Given the description of an element on the screen output the (x, y) to click on. 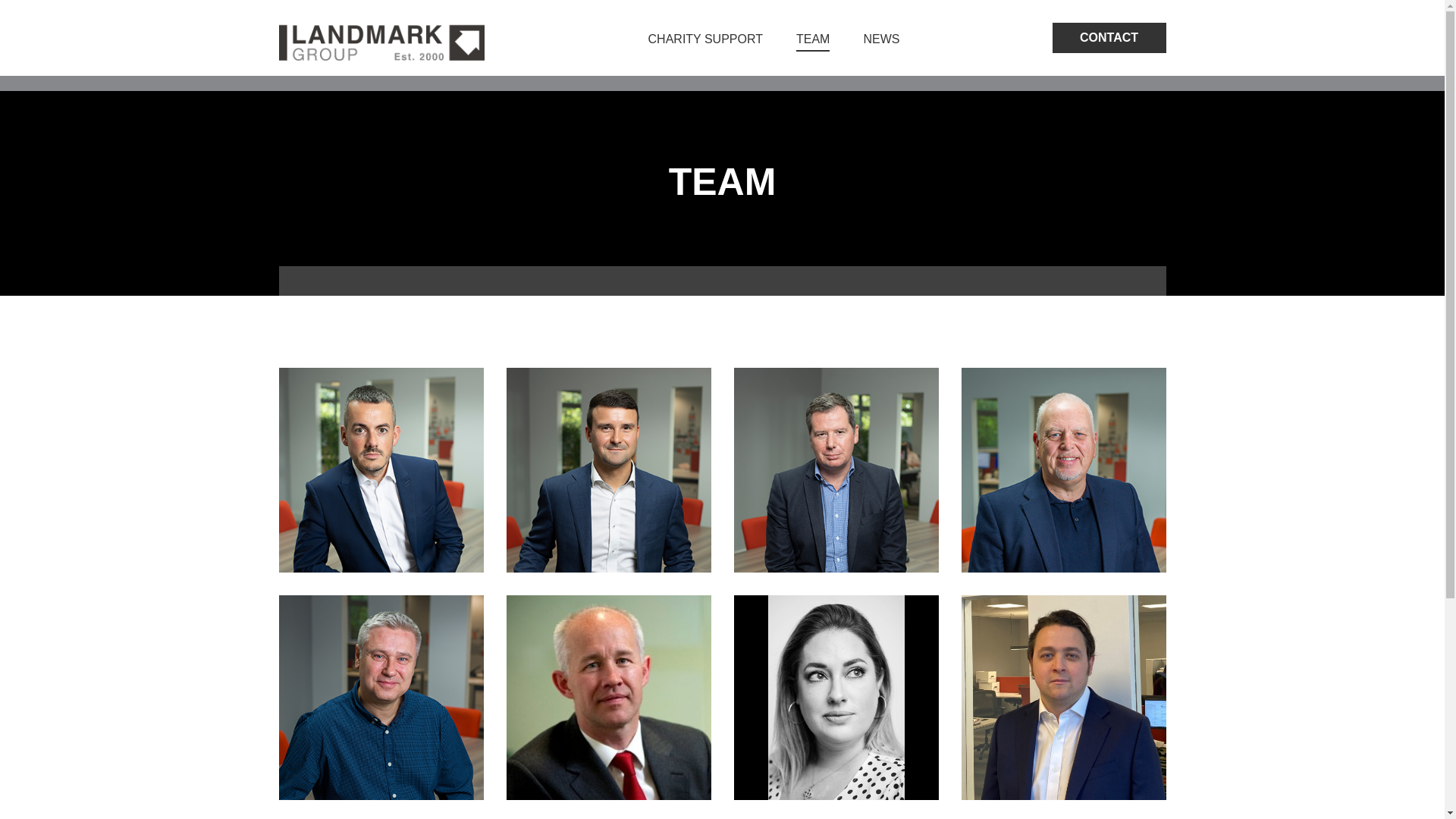
CONTACT (1109, 37)
NEWS (881, 38)
CHARITY SUPPORT (704, 38)
TEAM (812, 38)
